Given the description of an element on the screen output the (x, y) to click on. 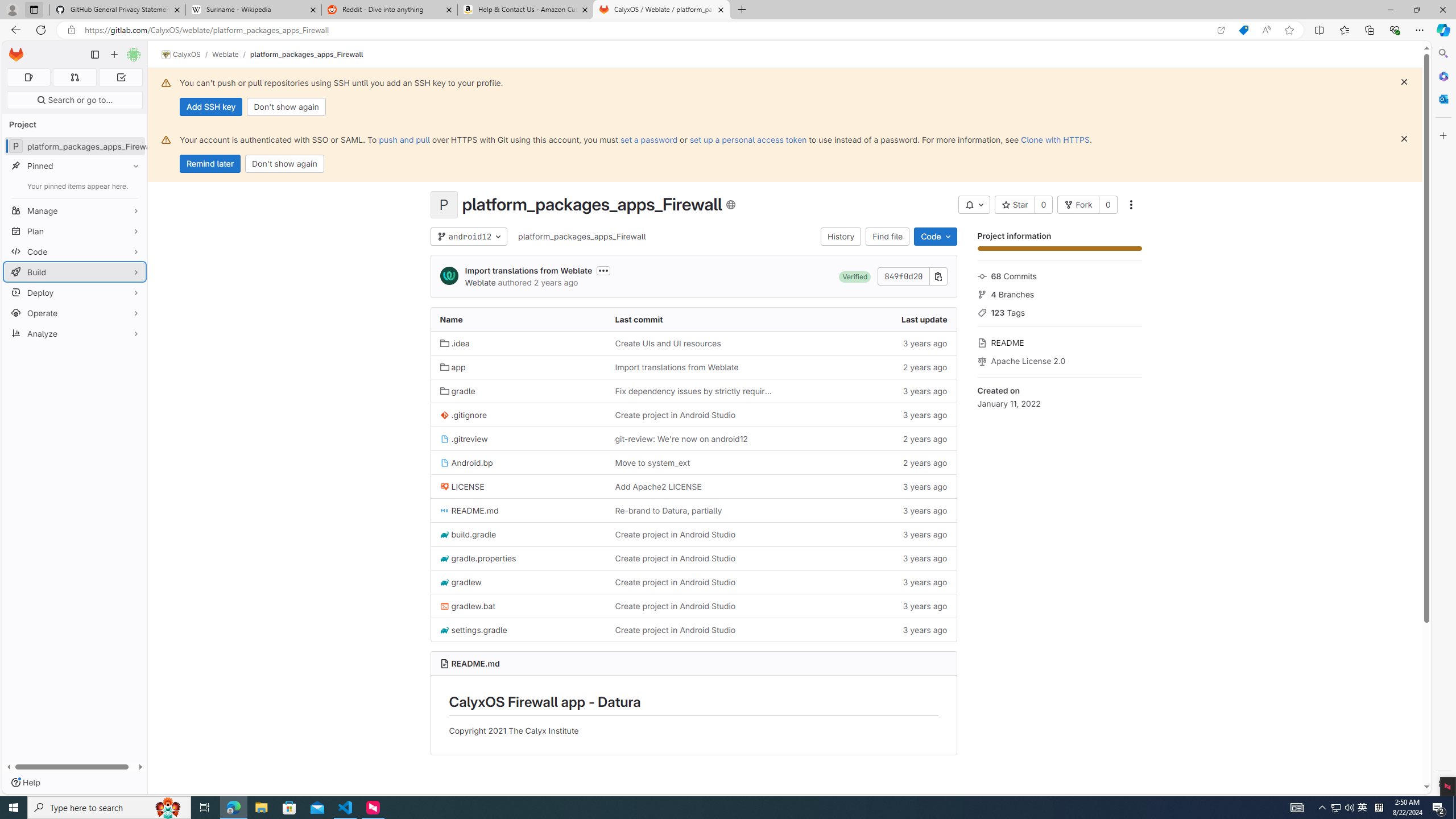
Analyze (74, 333)
app (452, 367)
Class: tree-item (693, 629)
Add SSH key (211, 106)
Move to system_ext (693, 462)
Code (74, 251)
Class: s16 icon gl-mr-3 gl-text-gray-500 (981, 361)
Hosted Weblate's avatar (448, 275)
More actions (1130, 204)
GitHub General Privacy Statement - GitHub Docs (117, 9)
Weblate (480, 282)
Class: s16 gl-icon gl-button-icon  (1404, 138)
CalyxOS/ (186, 54)
